Given the description of an element on the screen output the (x, y) to click on. 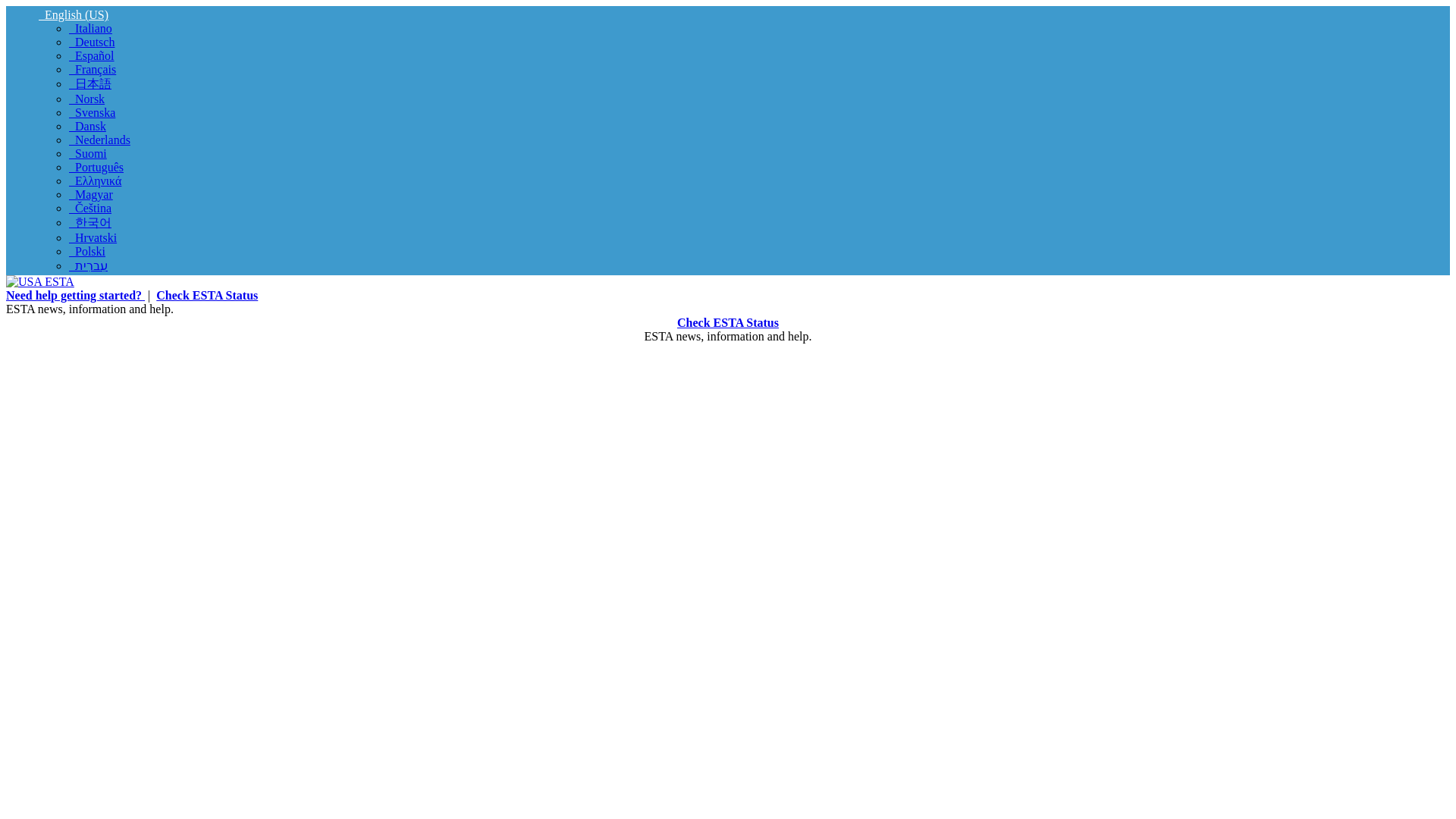
  Svenska (91, 112)
Check ESTA Status (727, 322)
  Hrvatski (92, 237)
  Polski (86, 250)
  Deutsch (91, 42)
  Norsk (86, 98)
Need help getting started? (74, 295)
  Magyar (90, 194)
  Nederlands (99, 139)
  Italiano (90, 28)
Check ESTA Status (206, 295)
  Dansk (87, 125)
  Suomi (87, 153)
